Given the description of an element on the screen output the (x, y) to click on. 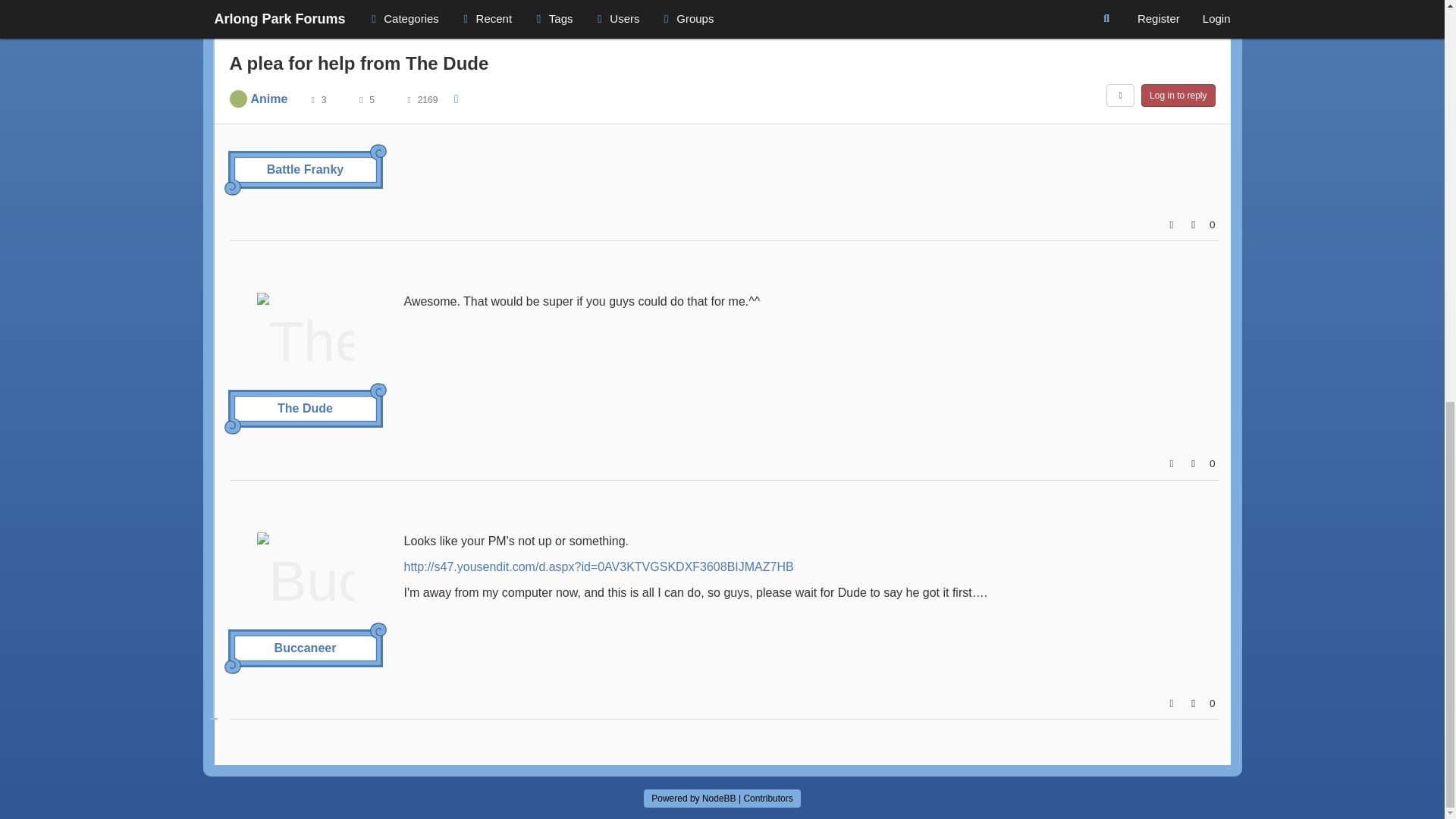
spiral (232, 665)
spiral (232, 187)
spiral (378, 630)
spiral (378, 152)
spiral (378, 391)
spiral (232, 425)
